Given the description of an element on the screen output the (x, y) to click on. 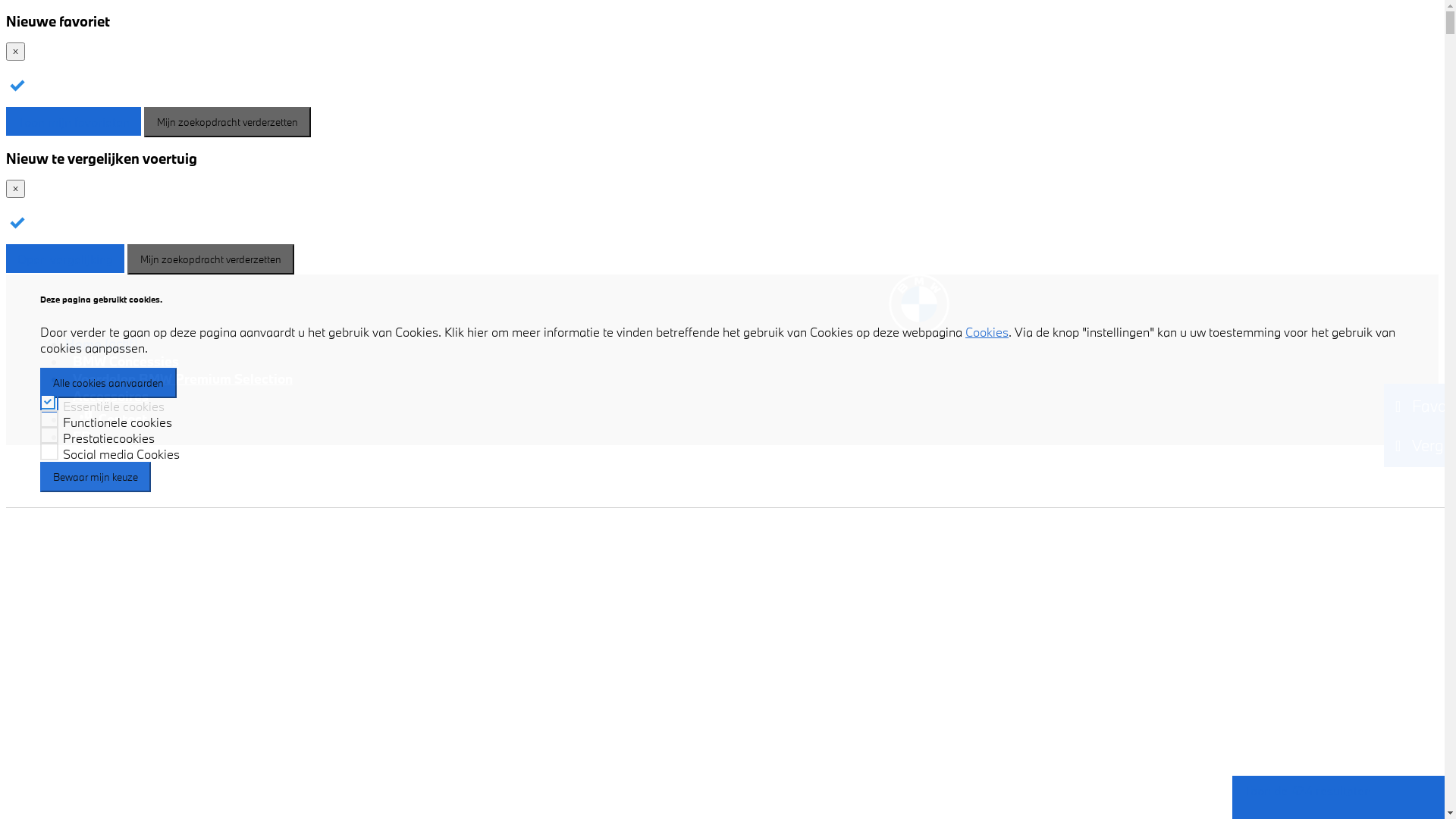
Alle cookies aanvaarden Element type: text (108, 382)
Toon mijn favorieten Element type: text (73, 120)
Cookies Element type: text (986, 331)
FR Element type: text (81, 436)
Mijn zoekopdracht verderzetten Element type: text (210, 259)
Voordelen BMW Premium Selection Element type: text (182, 378)
Open vergelijking Element type: text (65, 258)
Bewaar mijn keuze Element type: text (95, 476)
Contact Element type: text (109, 418)
BMW Concessies Element type: text (125, 361)
Accessoires Element type: text (110, 395)
Home (actif) Element type: text (104, 343)
Mijn onderhoudscontract Element type: text (133, 716)
Mijn zoekopdracht verderzetten Element type: text (227, 121)
